Given the description of an element on the screen output the (x, y) to click on. 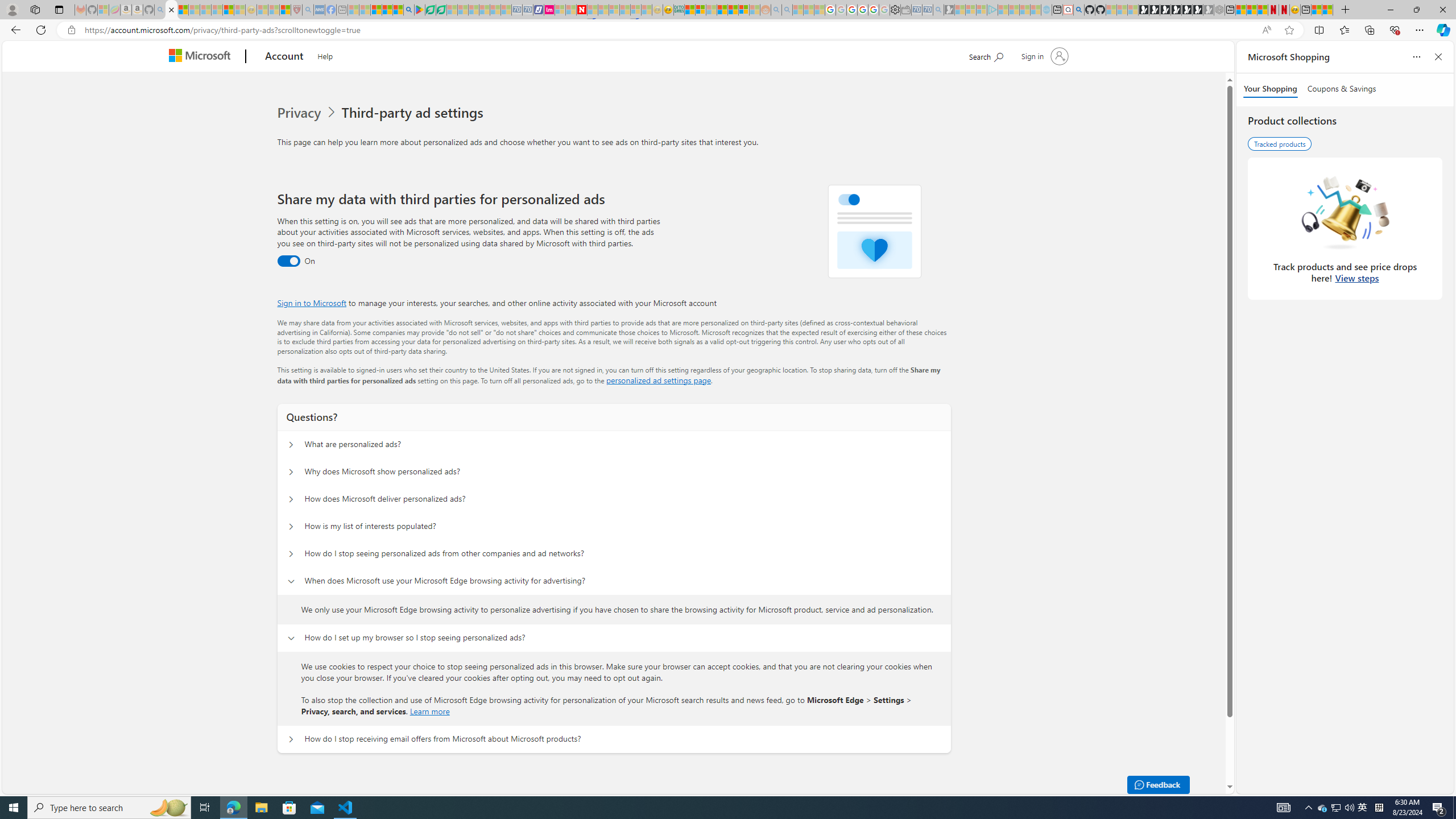
Wildlife - MSN (1316, 9)
Pets - MSN (387, 9)
Jobs - lastminute.com Investor Portal (548, 9)
Cheap Car Rentals - Save70.com - Sleeping (927, 9)
New Report Confirms 2023 Was Record Hot | Watch - Sleeping (216, 9)
Questions? How does Microsoft deliver personalized ads? (290, 499)
Questions? How is my list of interests populated? (290, 526)
